Given the description of an element on the screen output the (x, y) to click on. 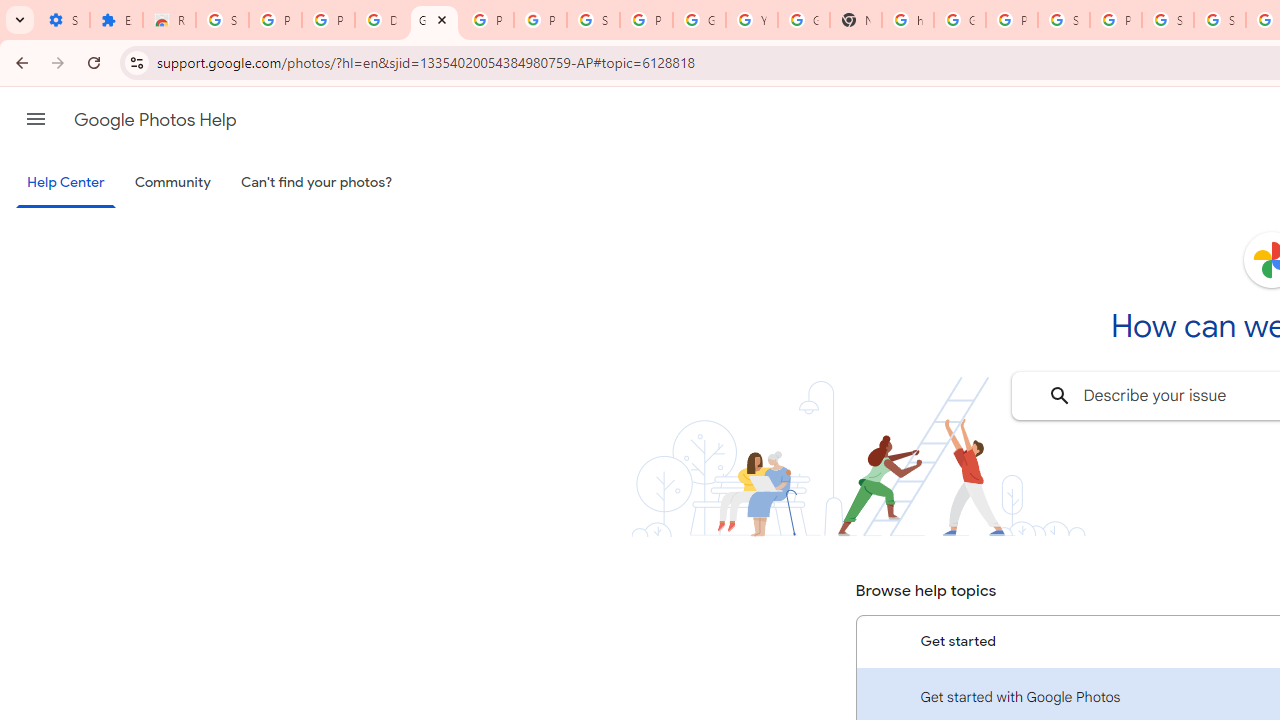
Reviews: Helix Fruit Jump Arcade Game (169, 20)
Sign in - Google Accounts (222, 20)
Can't find your photos? (317, 183)
Google Photos Help (155, 119)
Sign in - Google Accounts (593, 20)
